Given the description of an element on the screen output the (x, y) to click on. 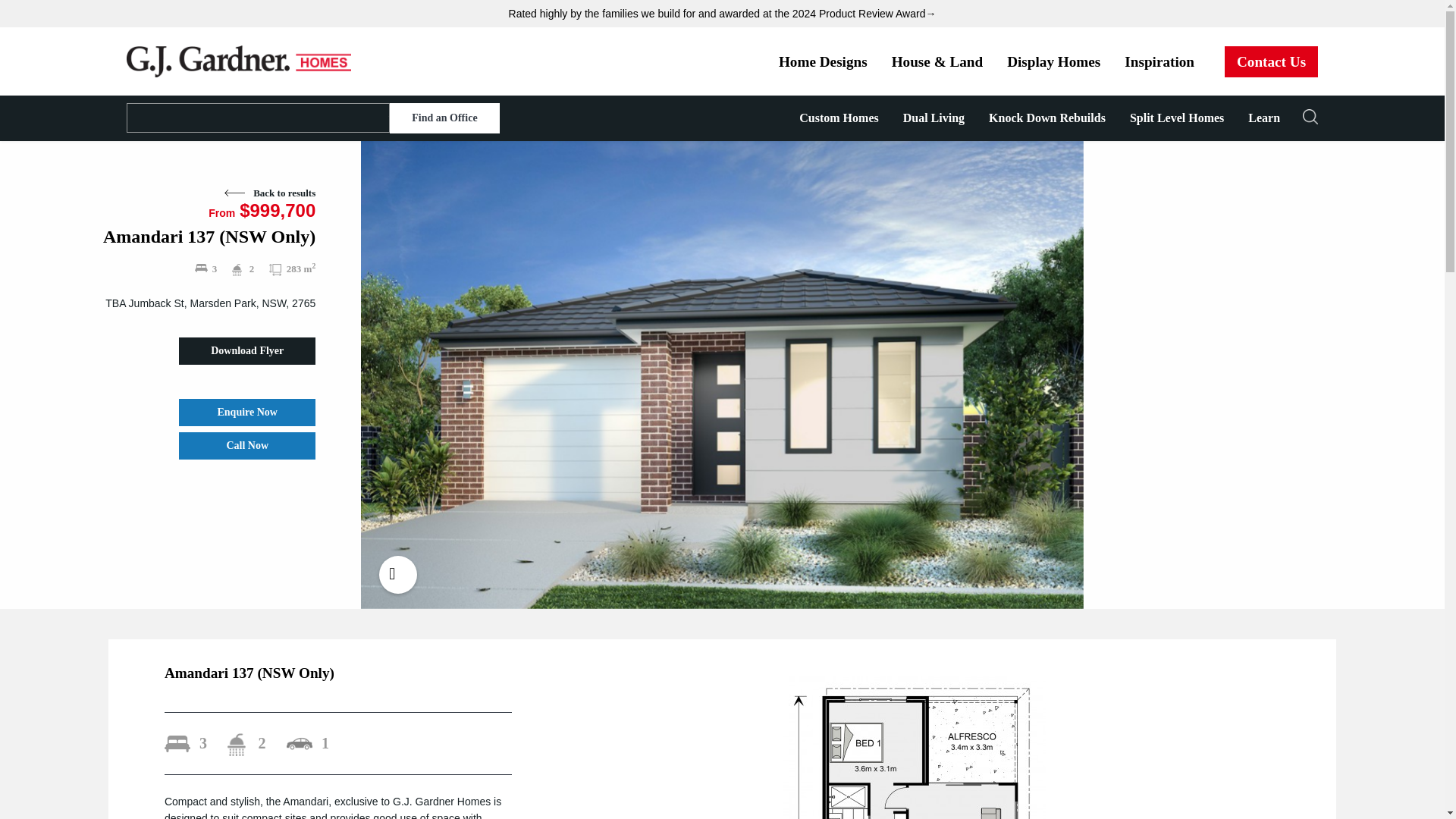
Contact Us (1270, 61)
Split Level Homes (1177, 118)
Learn (1264, 118)
Display Homes (1053, 61)
Back to results (269, 193)
Enquire Now (247, 411)
Knock Down Rebuilds (1047, 118)
Custom Homes (838, 118)
Find an Office (444, 118)
Inspiration (1159, 61)
Home Designs (823, 61)
Call Now (247, 445)
Find an Office (444, 118)
Dual Living (933, 118)
Download Flyer (247, 350)
